Given the description of an element on the screen output the (x, y) to click on. 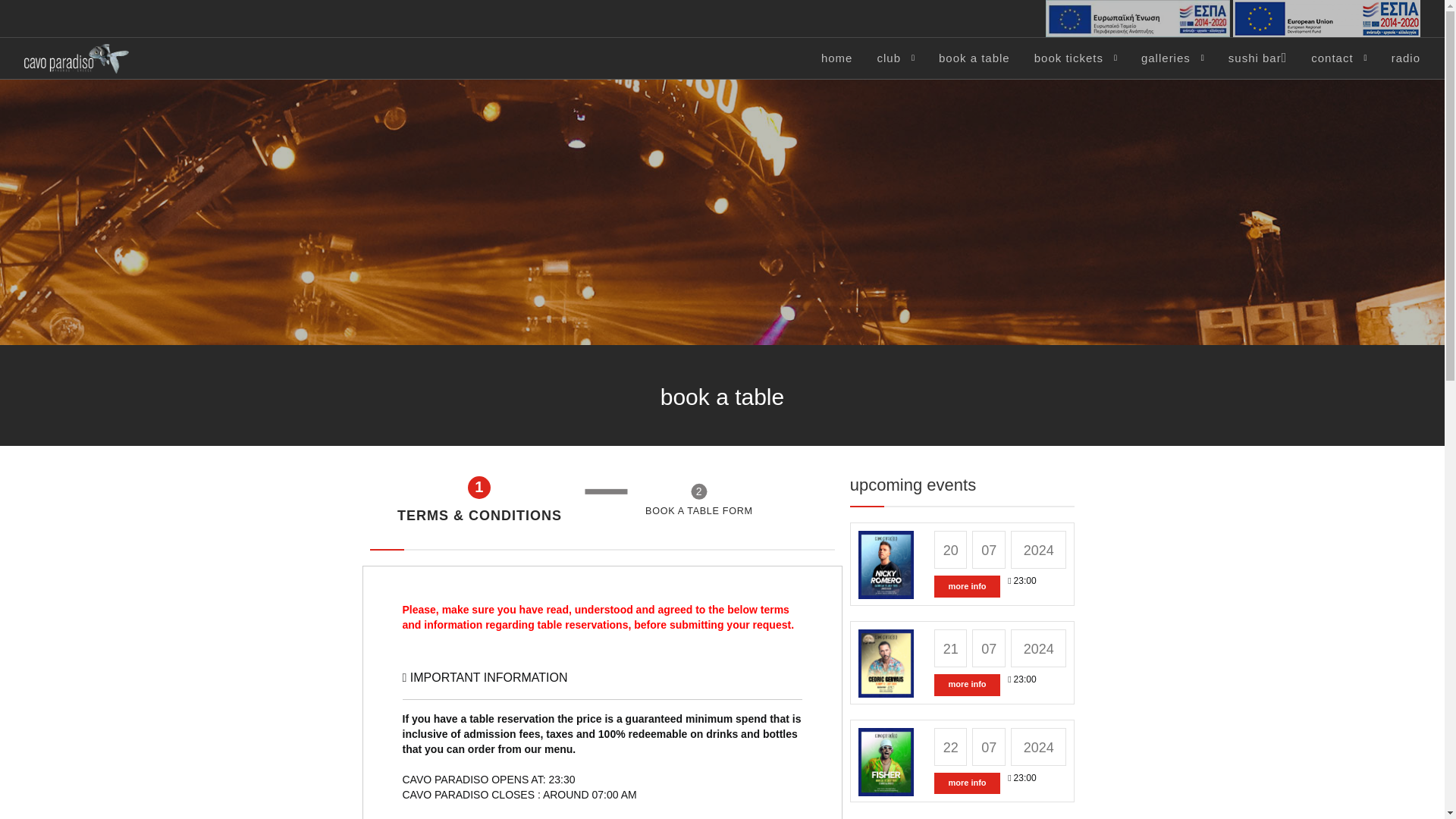
contact (1331, 58)
Home Page (76, 58)
book tickets (1068, 58)
sushi bar (1257, 58)
Sushi Bar (1257, 58)
more info (967, 586)
galleries (1166, 58)
more info (967, 685)
book a table (974, 58)
Contact menu (1331, 58)
more info (967, 783)
